Given the description of an element on the screen output the (x, y) to click on. 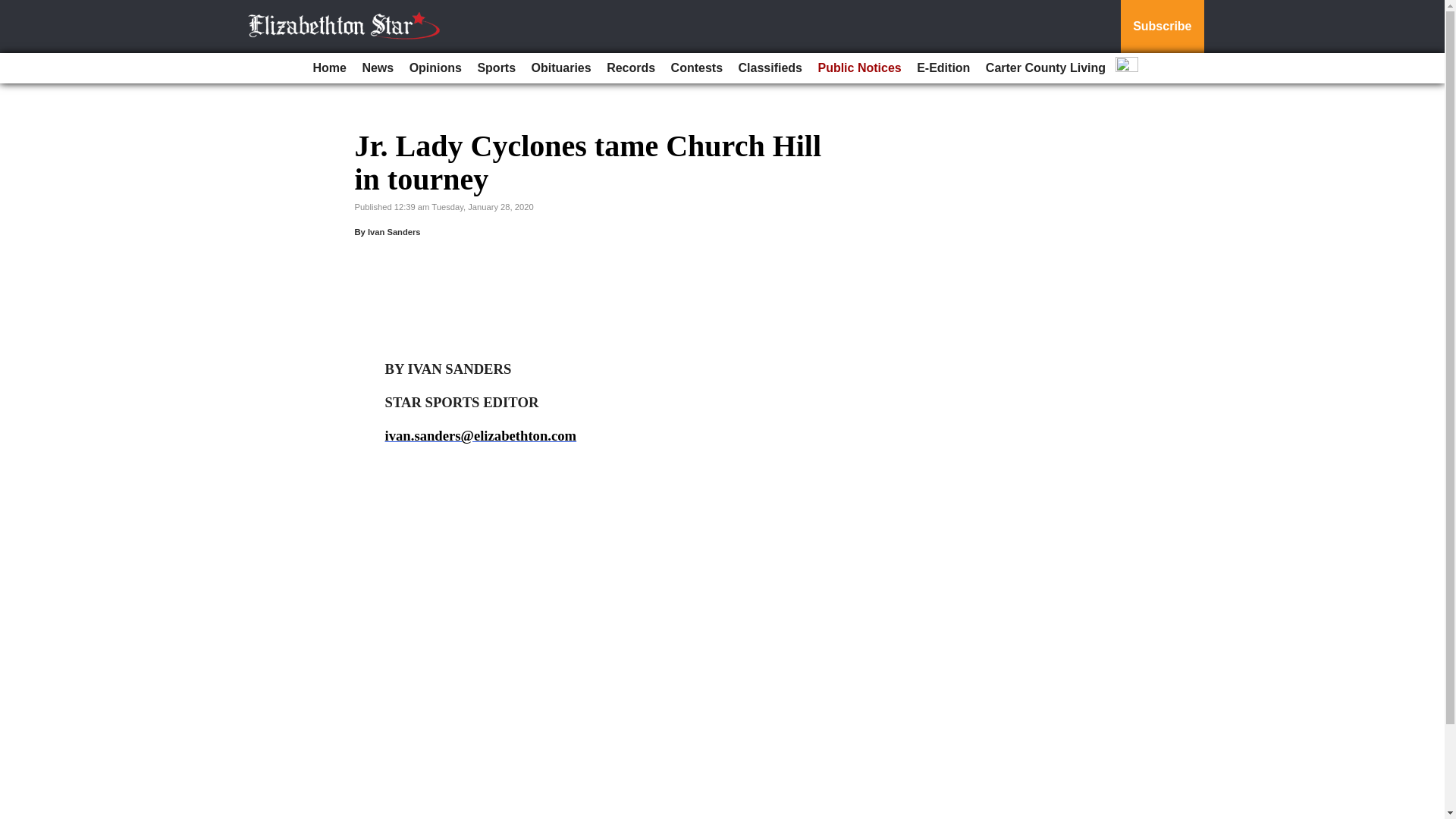
Carter County Living (1045, 68)
Home (328, 68)
E-Edition (943, 68)
Go (13, 9)
News (376, 68)
Sports (495, 68)
Records (630, 68)
Subscribe (1162, 26)
Ivan Sanders (394, 231)
Contests (697, 68)
Obituaries (560, 68)
Opinions (435, 68)
Classifieds (770, 68)
Public Notices (858, 68)
